Given the description of an element on the screen output the (x, y) to click on. 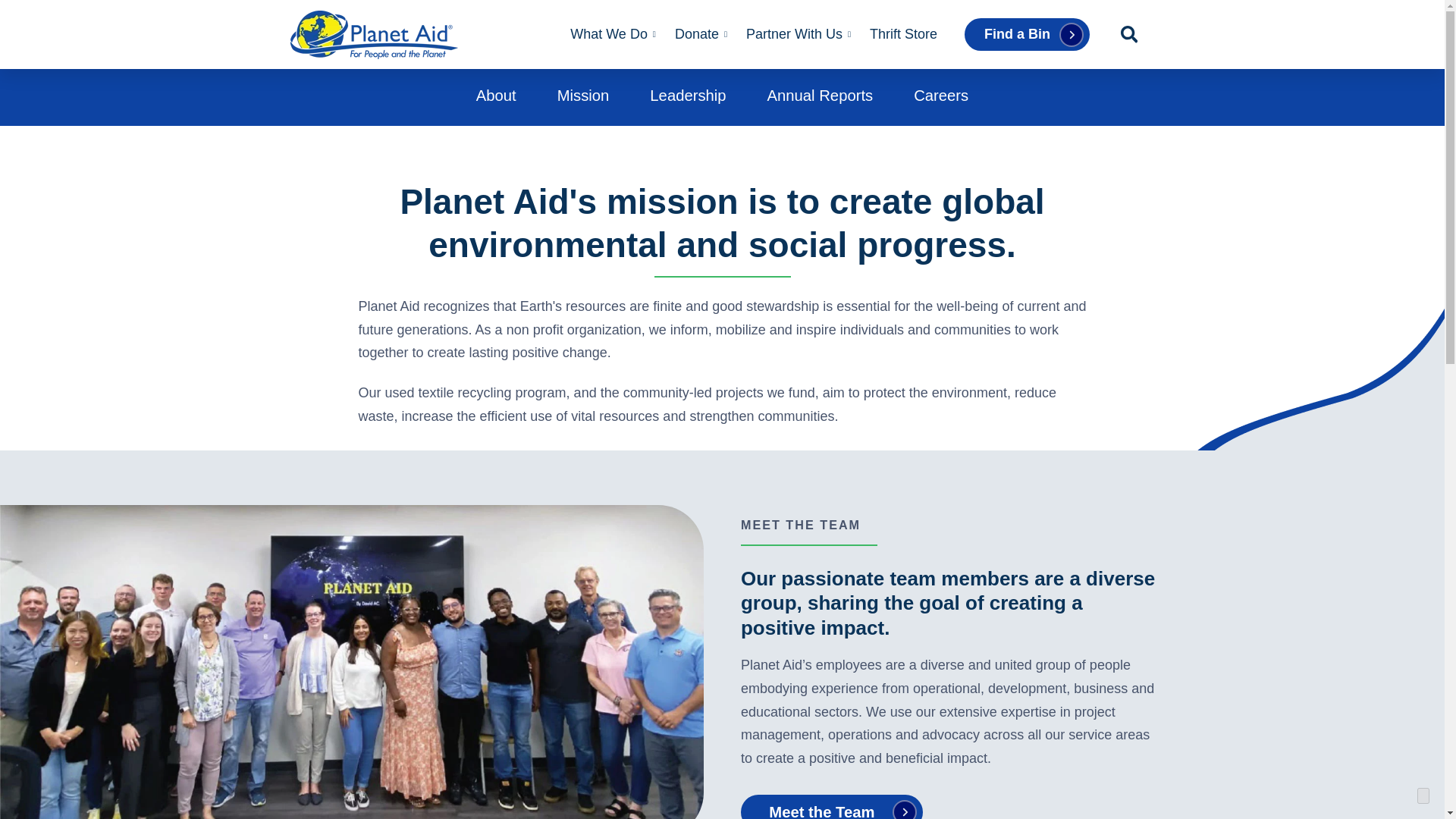
About (496, 95)
Donate (696, 34)
What We Do (608, 34)
planet-aid-logo-full (373, 34)
Careers (941, 95)
Leadership (687, 95)
Mission (583, 95)
Annual Reports (820, 95)
Thrift Store (903, 34)
Find a Bin (1026, 34)
Partner With Us (794, 34)
